Given the description of an element on the screen output the (x, y) to click on. 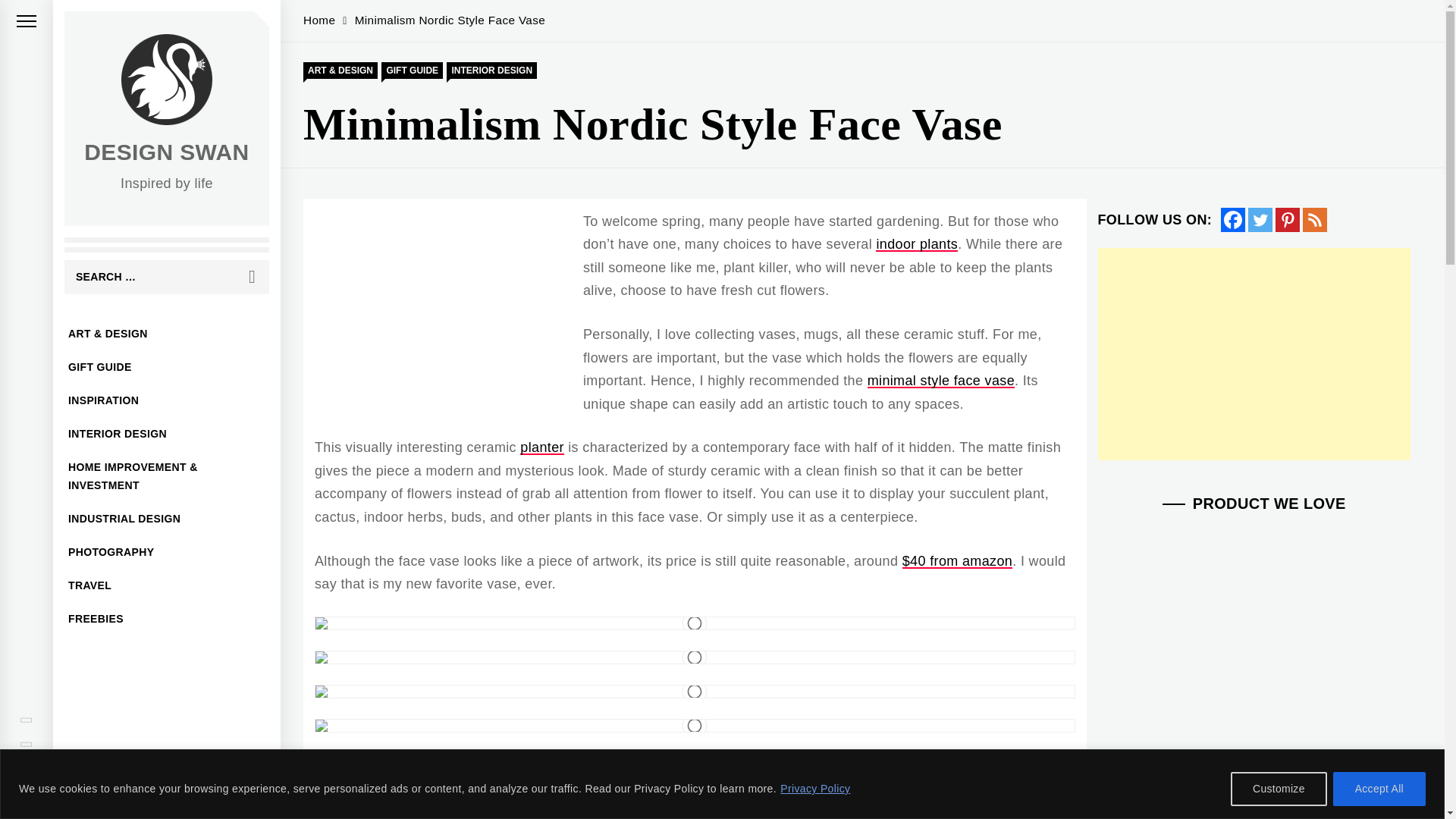
Twitter (1259, 219)
Search (251, 277)
Advertisement (1253, 354)
Search (251, 277)
Search (251, 277)
DESIGN SWAN (166, 151)
INSPIRATION (166, 400)
Accept All (1379, 788)
RSS Feed (1314, 219)
PHOTOGRAPHY (166, 551)
3rd party ad content (442, 322)
GIFT GUIDE (166, 367)
3rd party ad content (1254, 752)
Customize (1278, 788)
TRAVEL (166, 584)
